Given the description of an element on the screen output the (x, y) to click on. 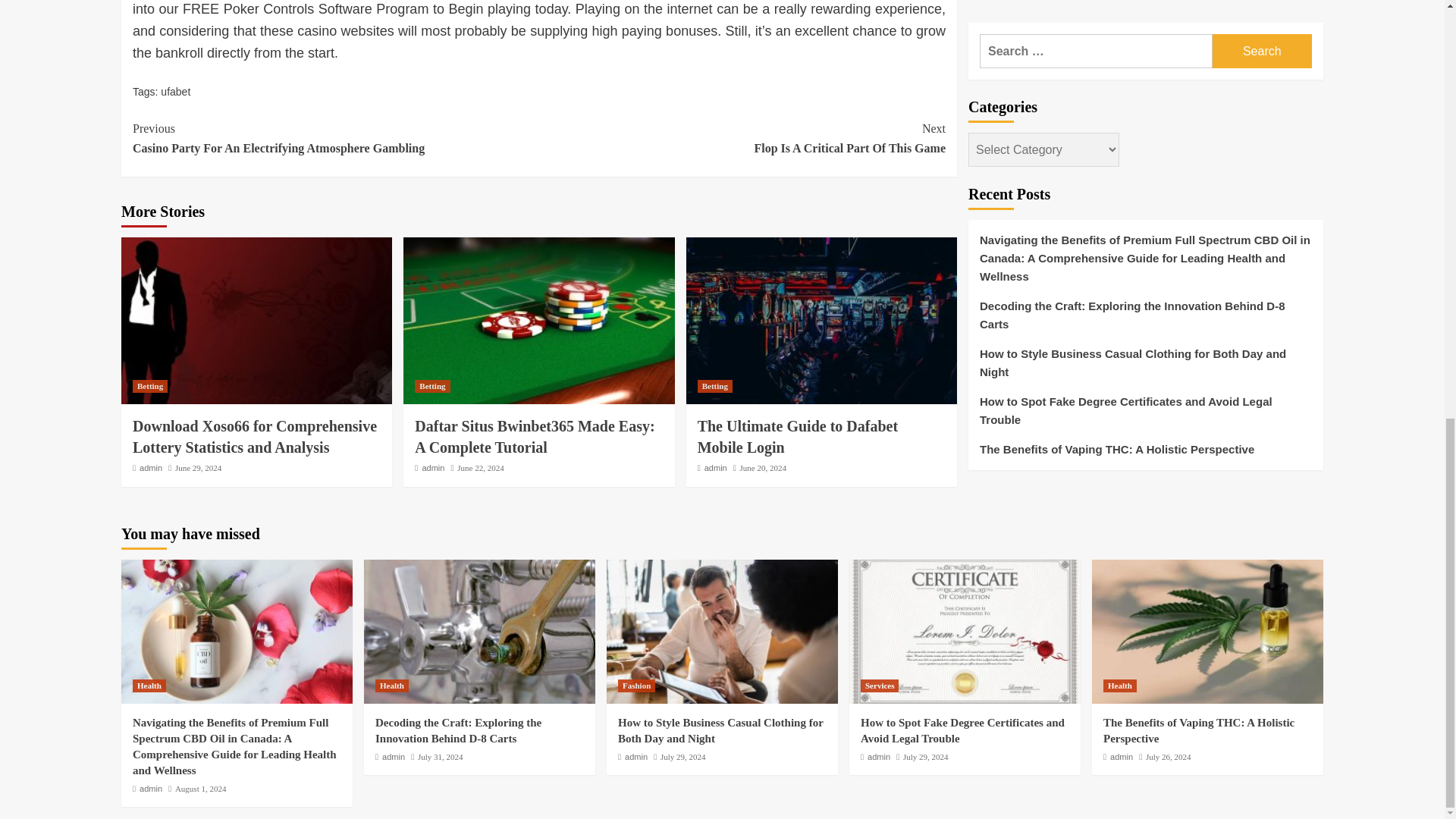
The Ultimate Guide to Dafabet Mobile Login (797, 436)
June 20, 2024 (762, 467)
Betting (431, 386)
admin (433, 467)
Health (148, 685)
admin (741, 138)
admin (150, 788)
Betting (715, 467)
